Given the description of an element on the screen output the (x, y) to click on. 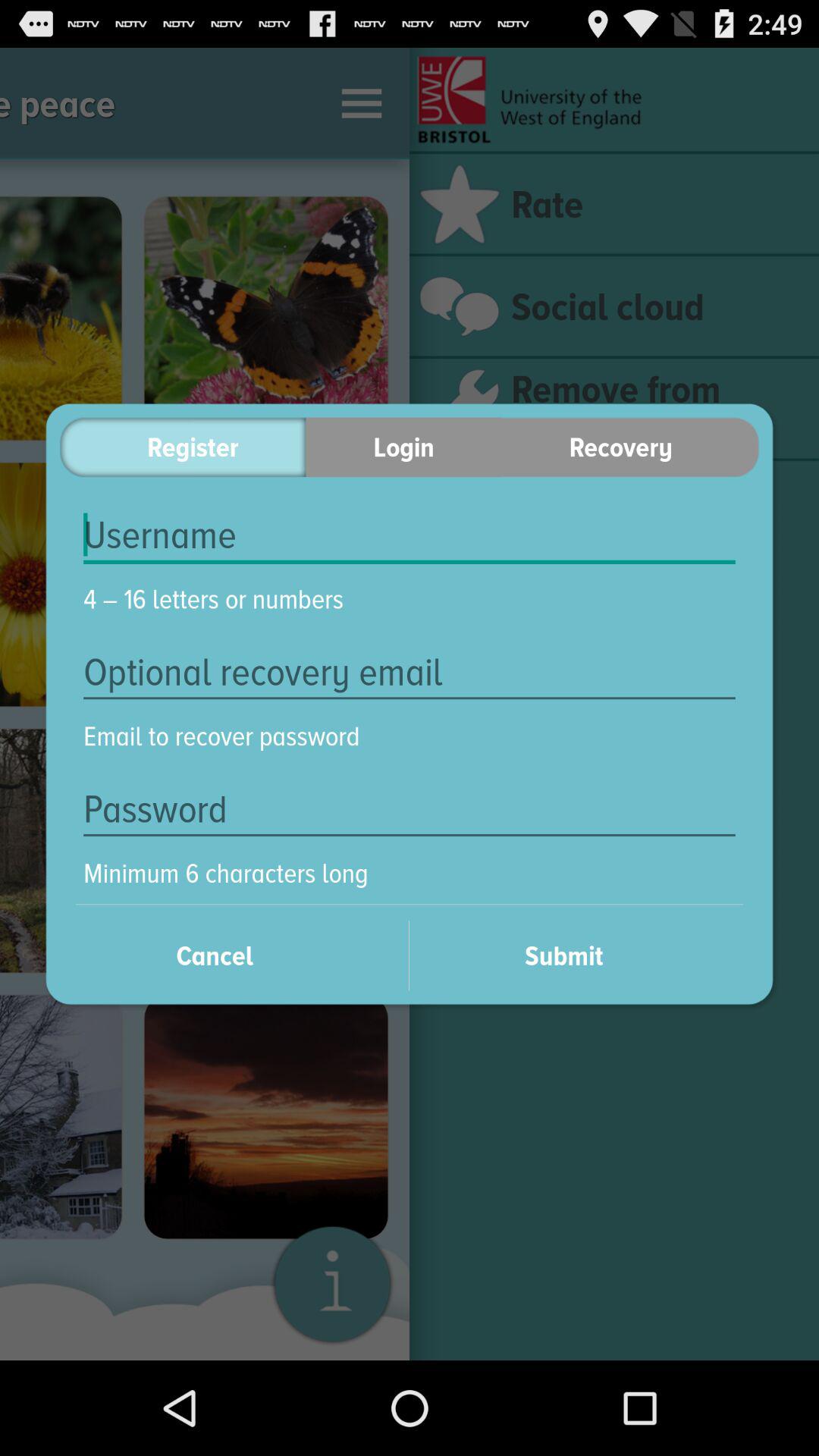
recovery email entry (409, 672)
